Given the description of an element on the screen output the (x, y) to click on. 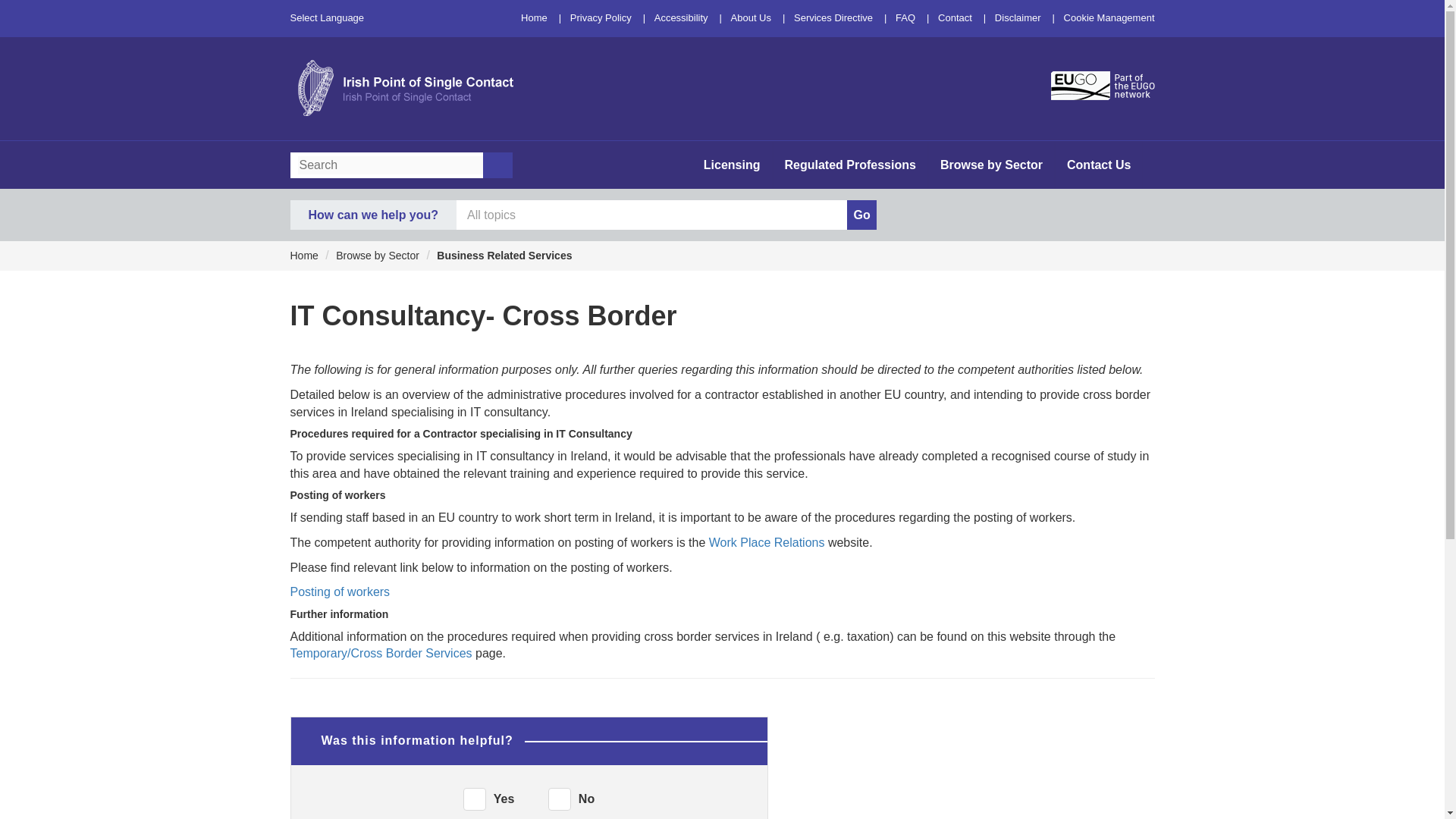
Privacy Policy (600, 17)
Browse by Sector (991, 164)
FAQ (905, 17)
Home (534, 17)
Contact (954, 17)
Cookie Management (1109, 17)
Go (861, 214)
Services Directive (832, 17)
Accessibility (680, 17)
About Us (750, 17)
Disclaimer (1017, 17)
Regulated Professions (849, 164)
Contact Us (1098, 164)
Licensing (732, 164)
All topics (652, 215)
